Given the description of an element on the screen output the (x, y) to click on. 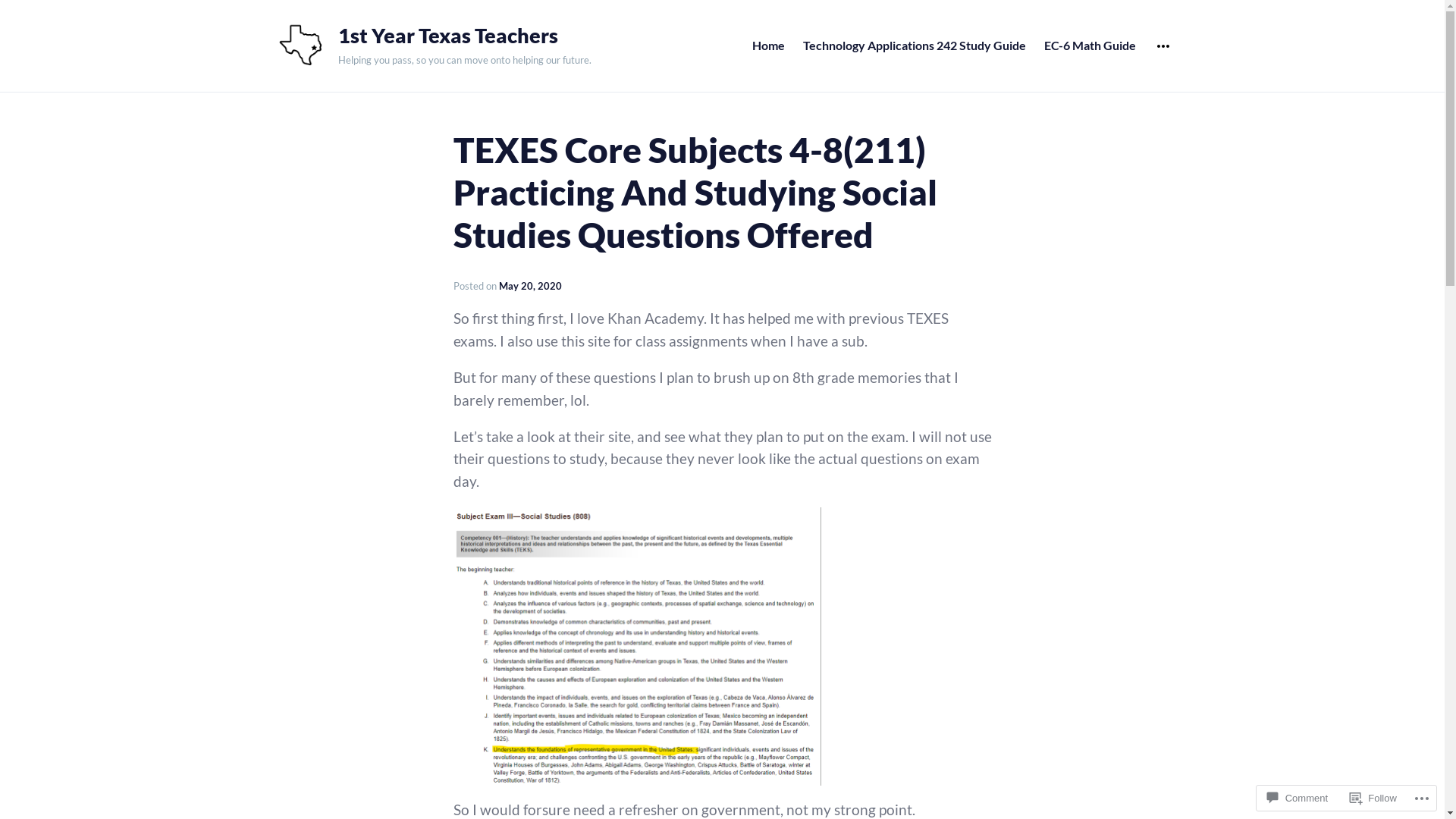
May 20, 2020 Element type: text (529, 285)
Comment Element type: text (1297, 797)
Technology Applications 242 Study Guide Element type: text (914, 45)
Follow Element type: text (1372, 797)
1st Year Texas Teachers Element type: text (464, 35)
Home Element type: text (768, 45)
EC-6 Math Guide Element type: text (1090, 45)
